Given the description of an element on the screen output the (x, y) to click on. 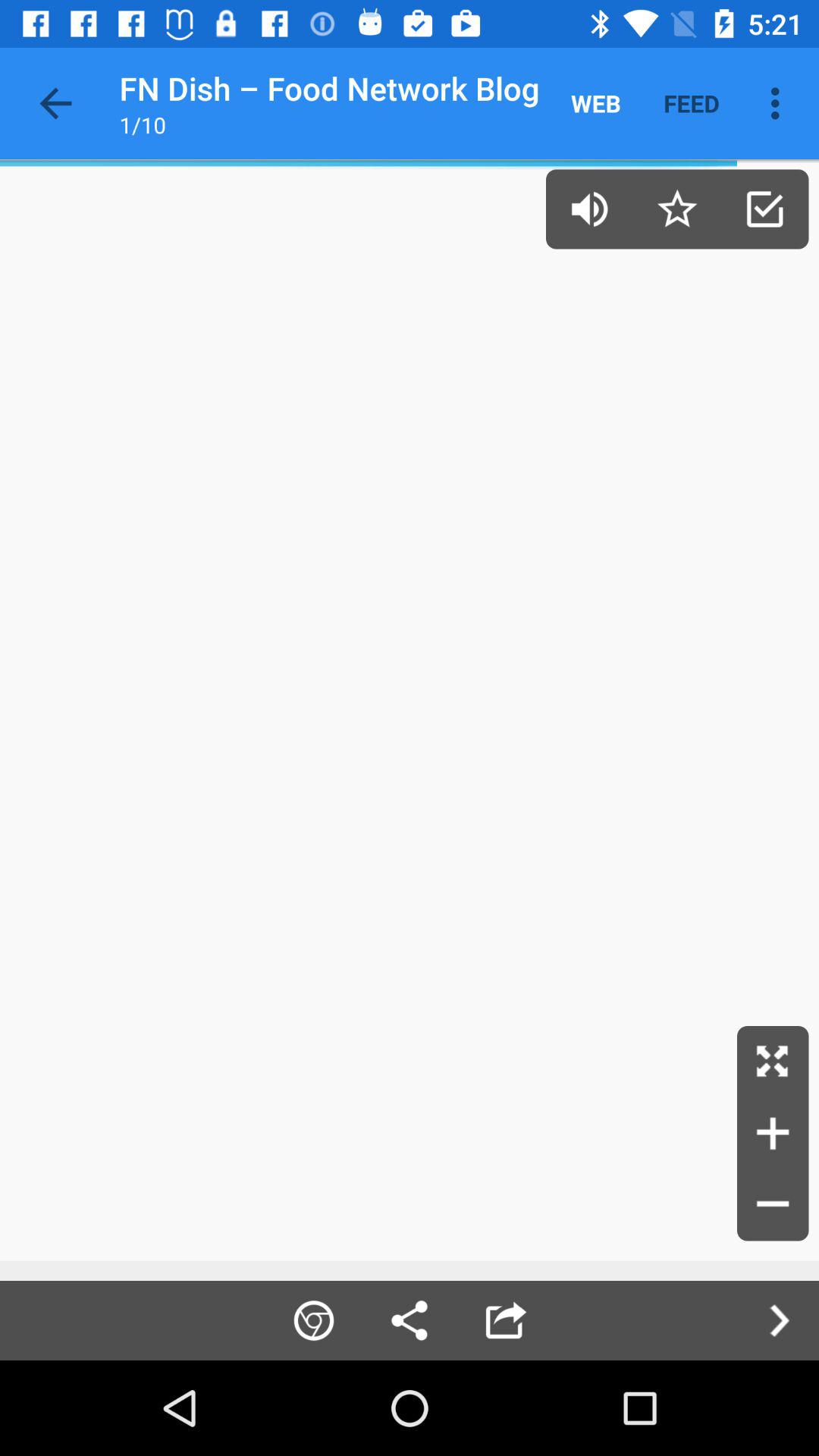
bookmark page (677, 209)
